Given the description of an element on the screen output the (x, y) to click on. 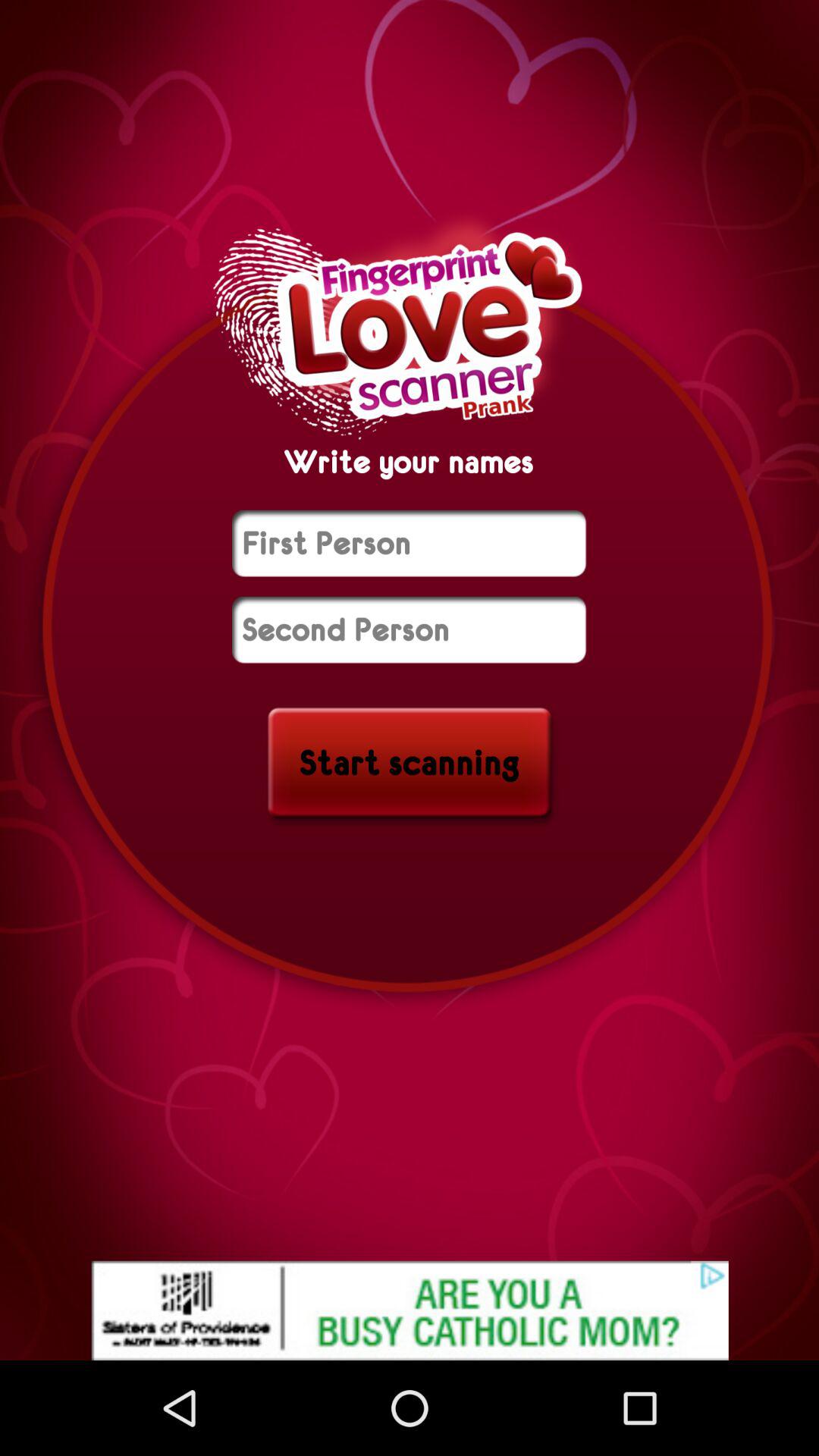
insert name field (409, 629)
